Given the description of an element on the screen output the (x, y) to click on. 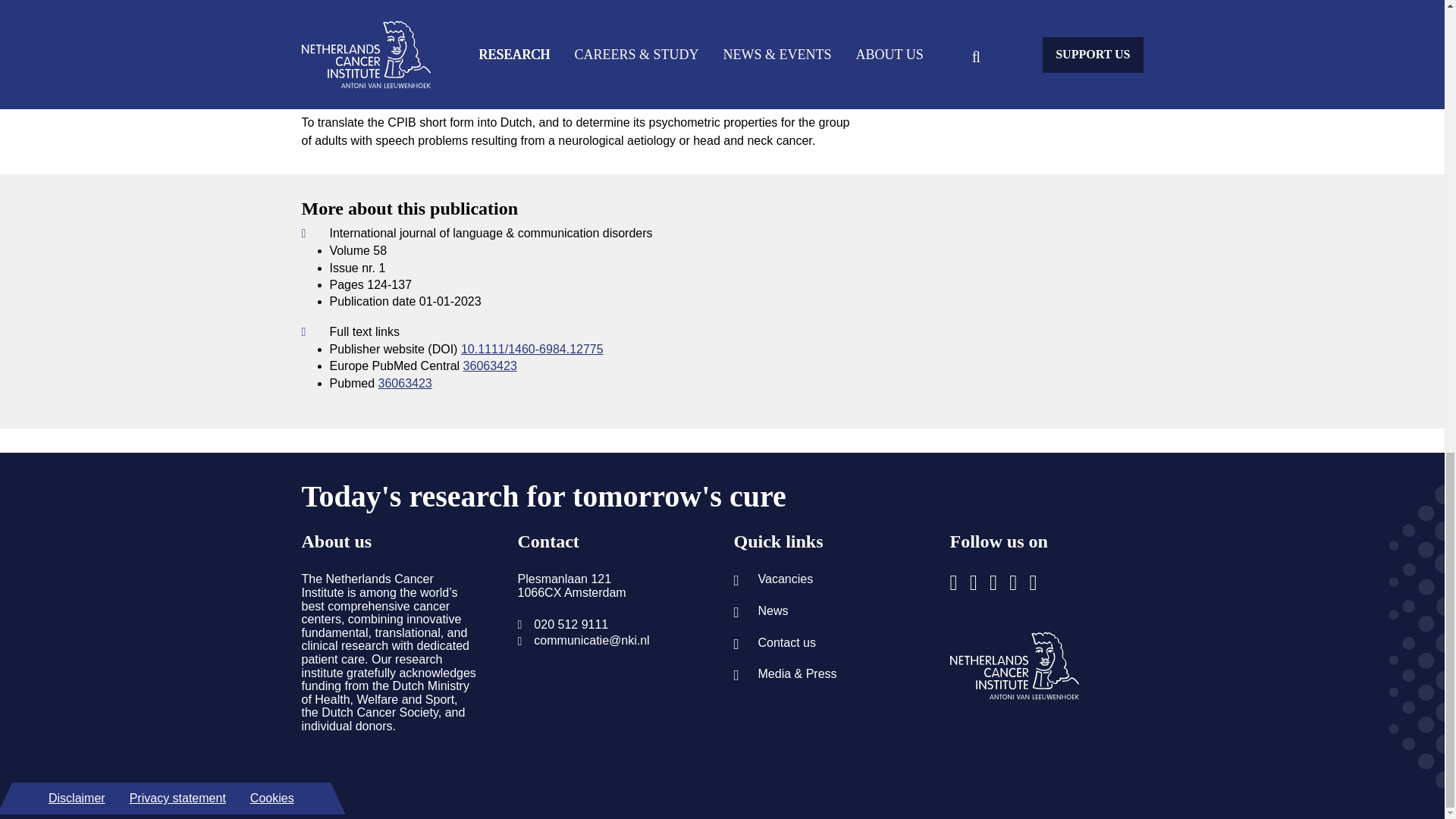
terug (1013, 665)
